Given the description of an element on the screen output the (x, y) to click on. 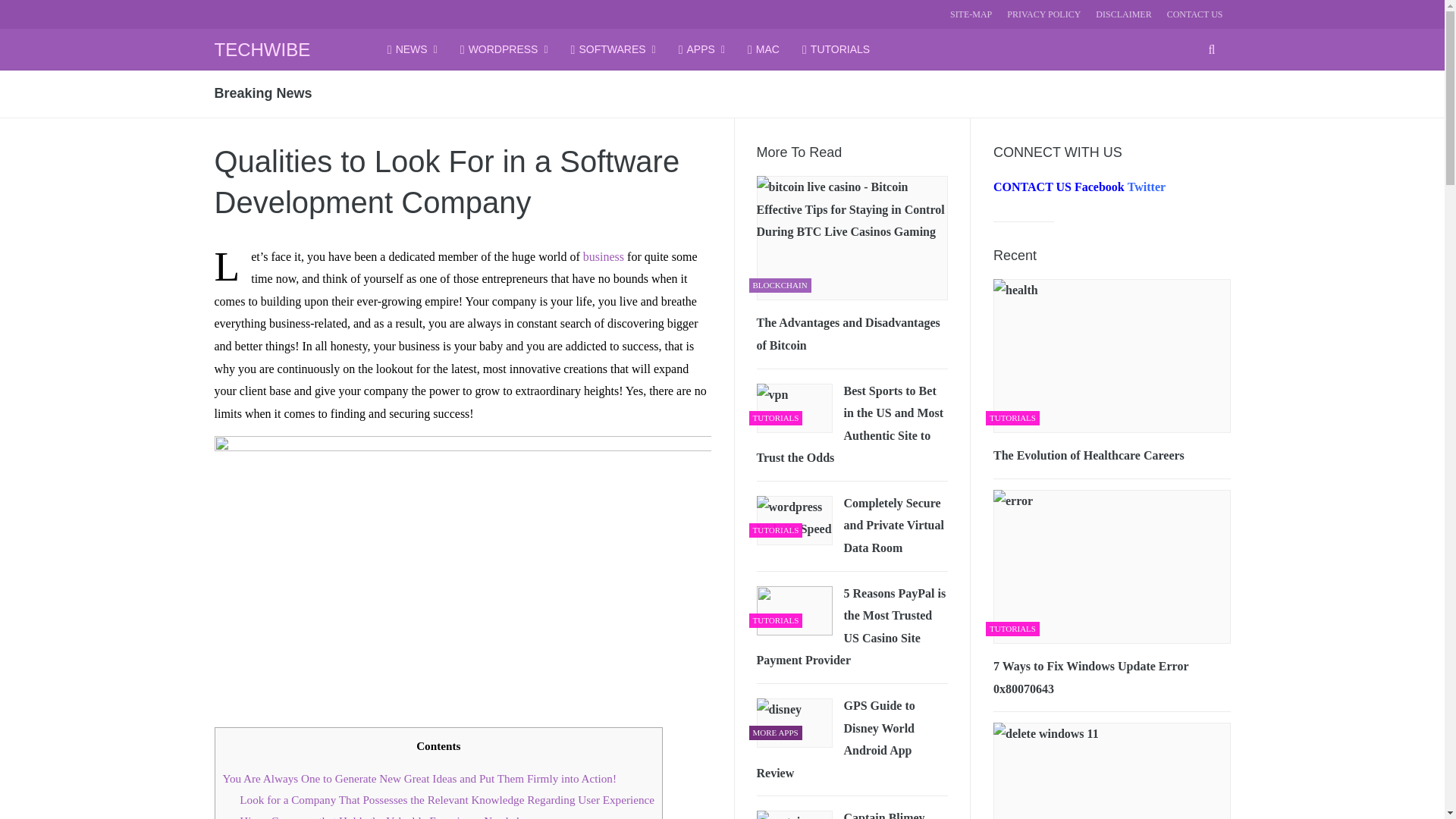
Hire a Company that Holds the Valuable Experience Needed (379, 816)
NEWS (412, 49)
WORDPRESS (504, 49)
TECHWIBE (262, 49)
TECHWIBE (262, 49)
CONTACT US (1195, 14)
APPS (701, 49)
SOFTWARES (613, 49)
